Given the description of an element on the screen output the (x, y) to click on. 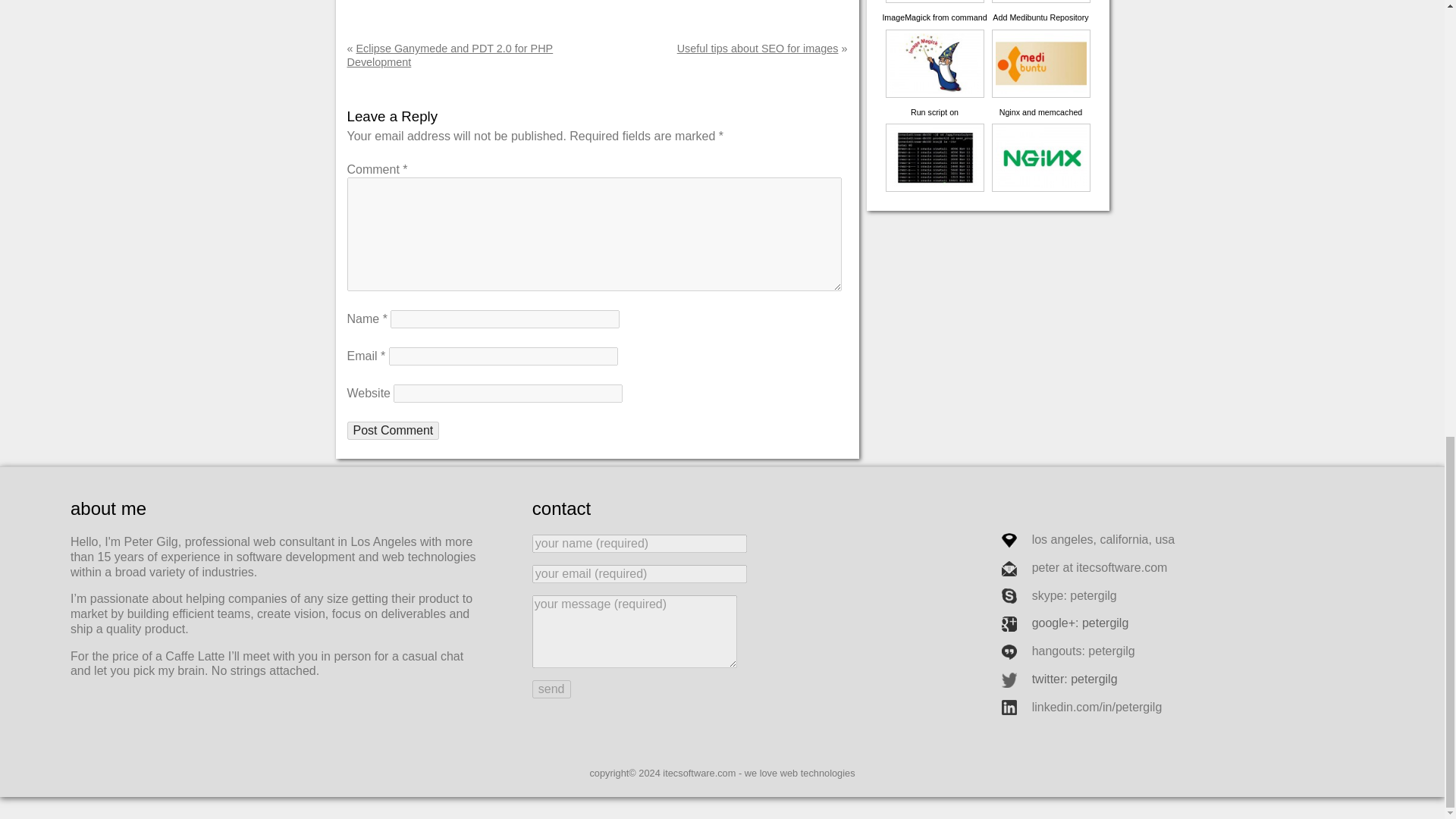
twitter: petergilg (1056, 678)
Useful tips about SEO for images (757, 48)
Eclipse Ganymede and PDT 2.0 for PHP Development (450, 54)
Post Comment (393, 430)
ImageMagick from command (933, 40)
Post Comment (393, 430)
follow me on Google Plus (1061, 622)
send (551, 689)
Add Medibuntu Repository (1040, 40)
Nginx and memcached (1040, 134)
